Given the description of an element on the screen output the (x, y) to click on. 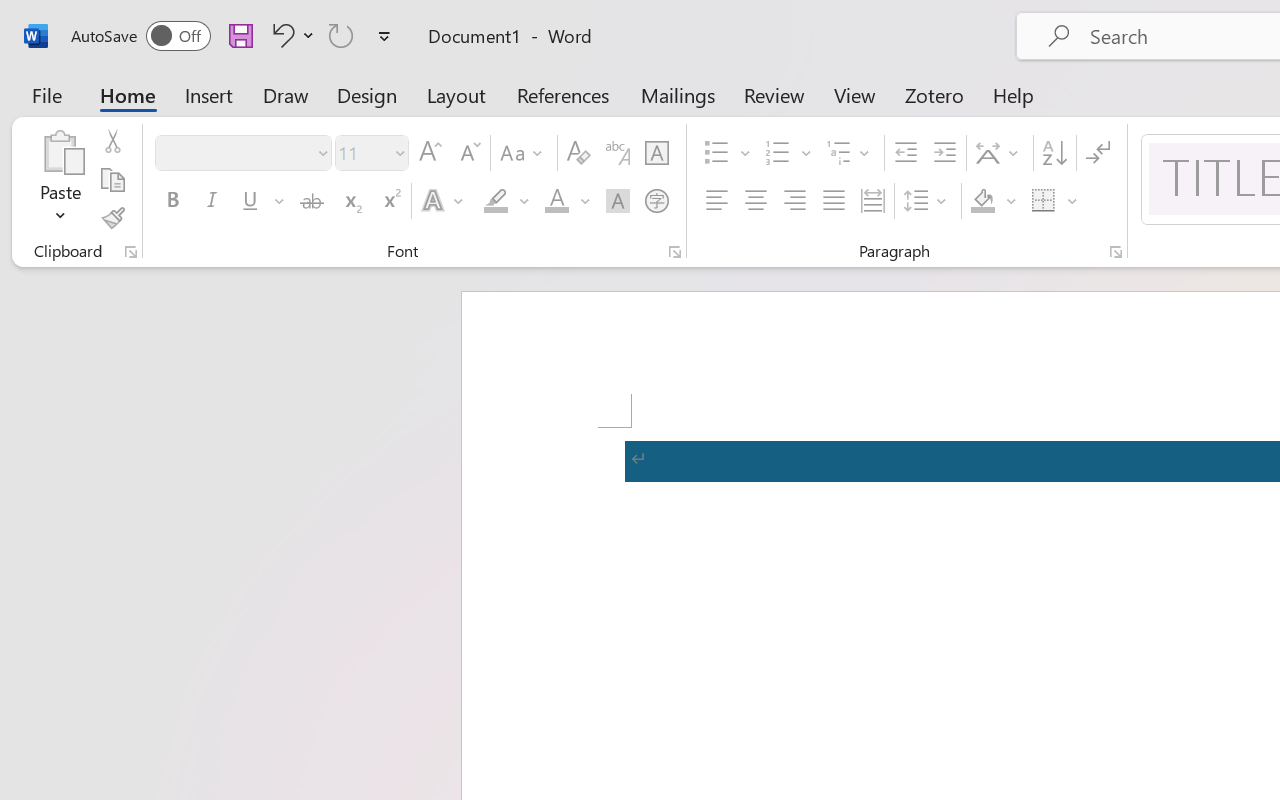
Undo Apply Quick Style Set (290, 35)
